Given the description of an element on the screen output the (x, y) to click on. 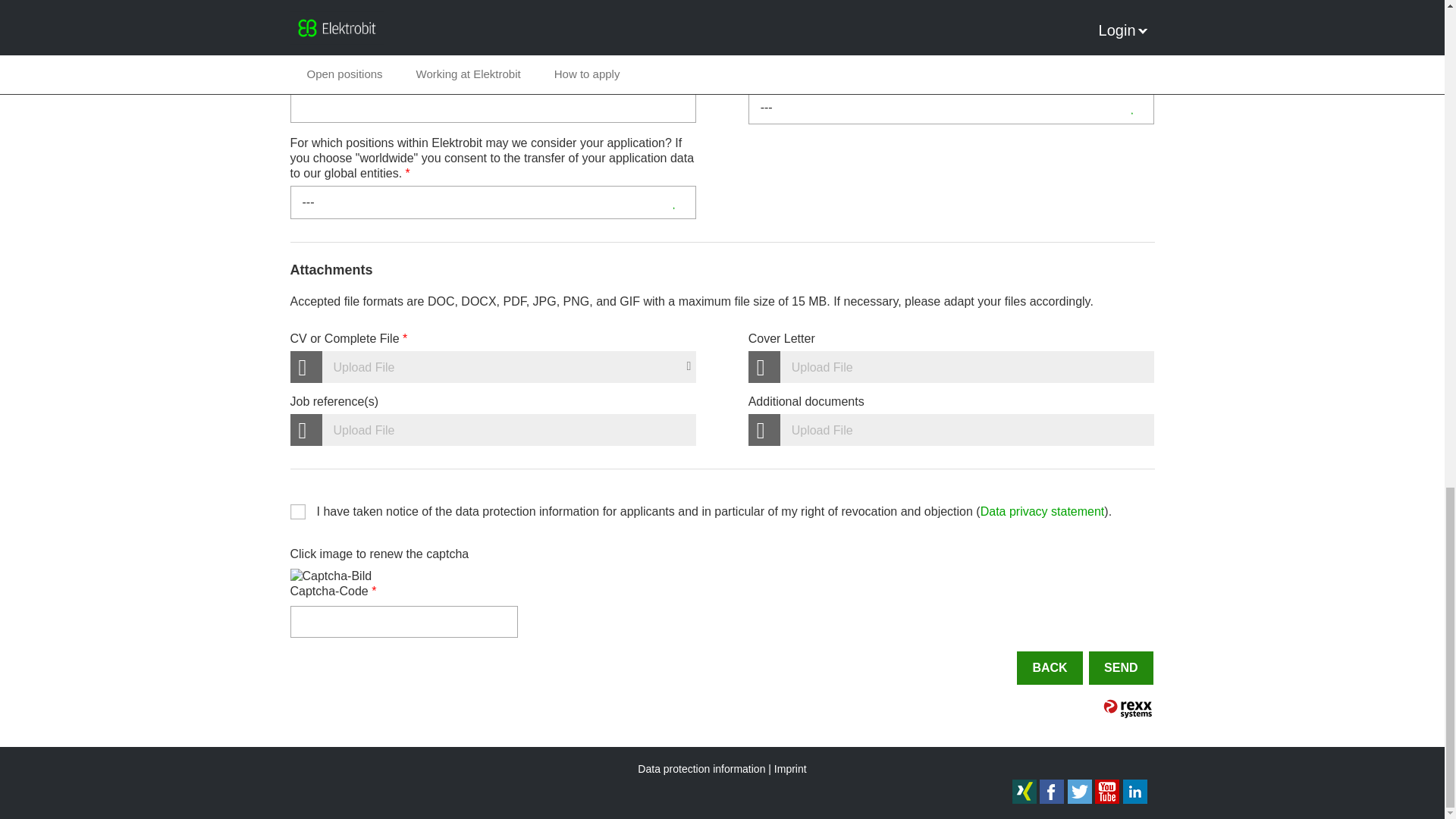
Imprint (790, 768)
BACK (1048, 667)
Data protection information (705, 768)
Data privacy statement (1042, 511)
SEND (1121, 667)
